Given the description of an element on the screen output the (x, y) to click on. 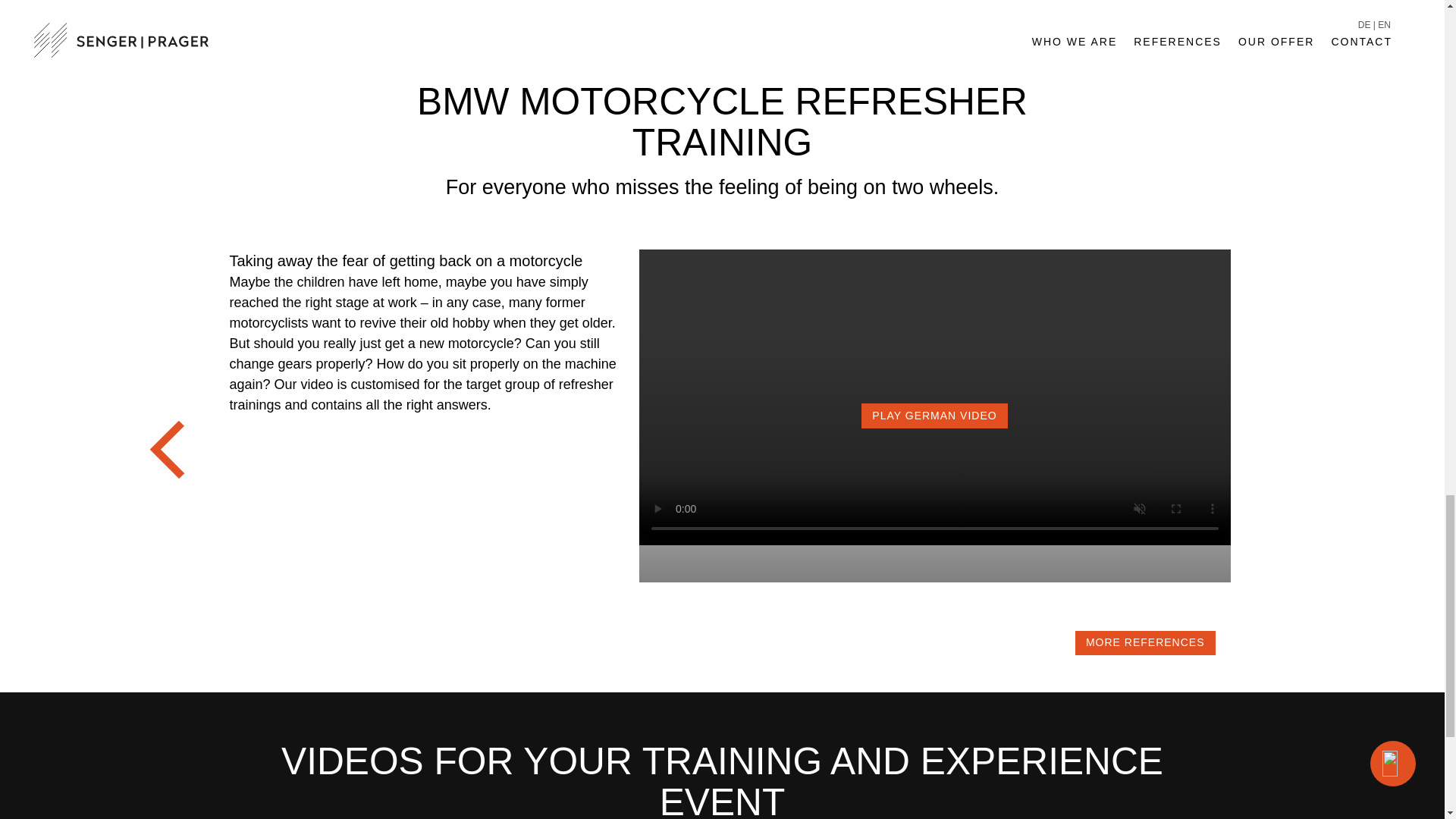
PLAY GERMAN VIDEO (934, 540)
MORE REFERENCES (1145, 642)
